Given the description of an element on the screen output the (x, y) to click on. 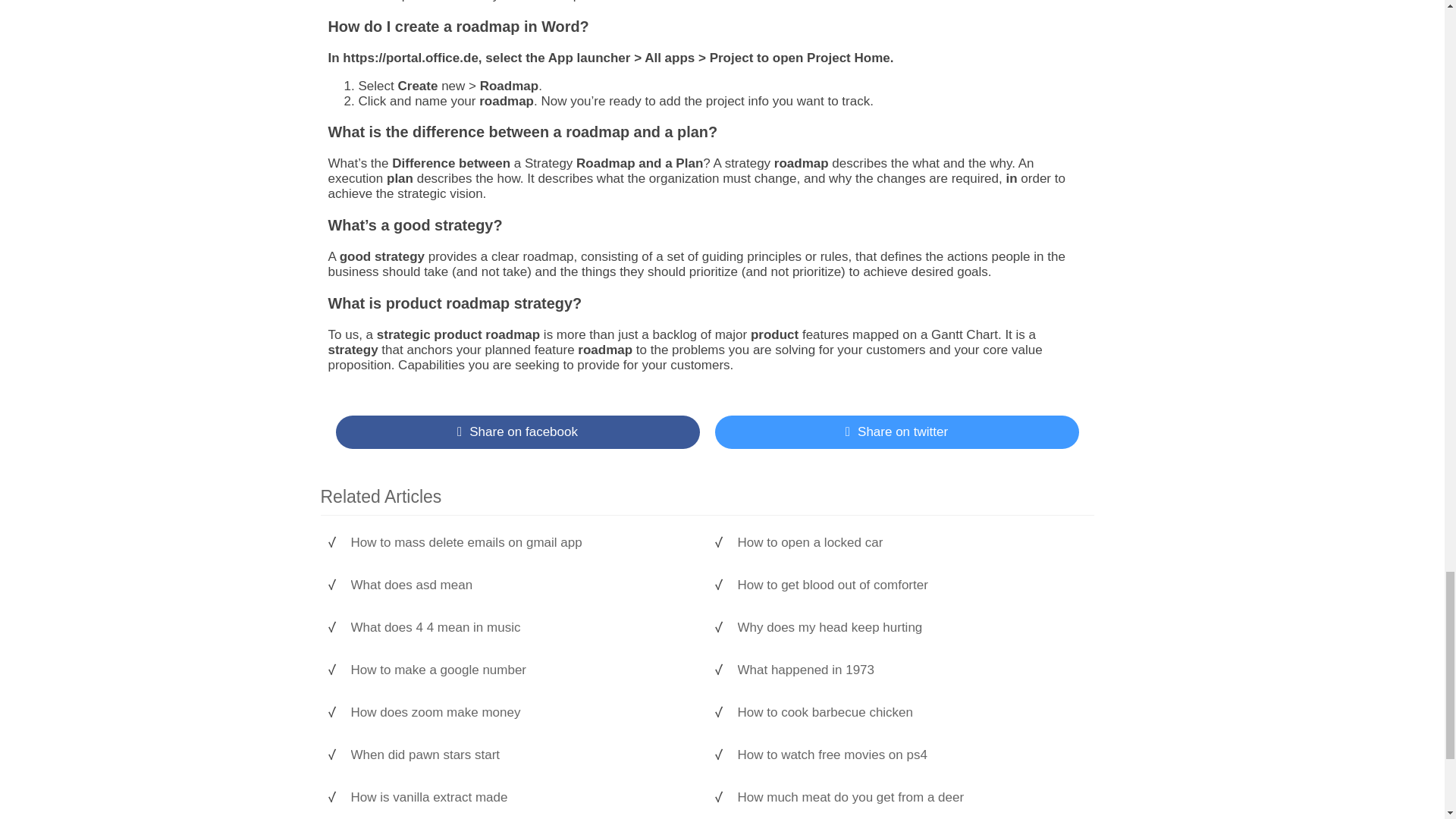
How does zoom make money (520, 712)
How to mass delete emails on gmail app (520, 542)
How to cook barbecue chicken (907, 712)
How much meat do you get from a deer (907, 797)
What does 4 4 mean in music (520, 627)
Why does my head keep hurting (907, 627)
How to cook barbecue chicken (907, 712)
When did pawn stars start (520, 754)
How to watch free movies on ps4 (907, 754)
How to watch free movies on ps4 (907, 754)
